Given the description of an element on the screen output the (x, y) to click on. 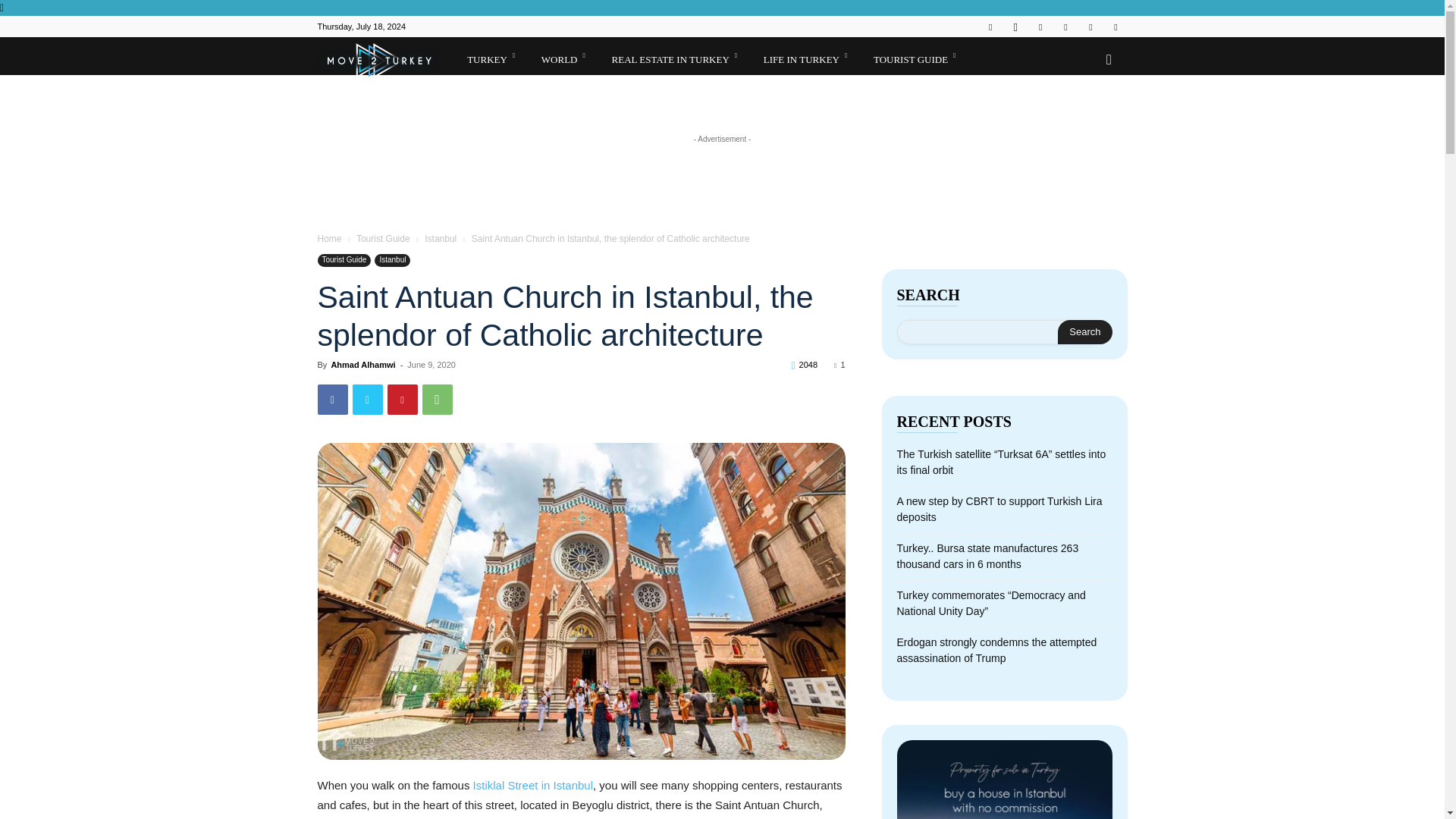
Linkedin (1040, 25)
Facebook (989, 25)
Twitter (1090, 25)
Instagram (1015, 25)
Search (1085, 331)
Youtube (1114, 25)
Move 2 Turkey (387, 67)
TURKEY (494, 55)
Pinterest (1065, 25)
